Given the description of an element on the screen output the (x, y) to click on. 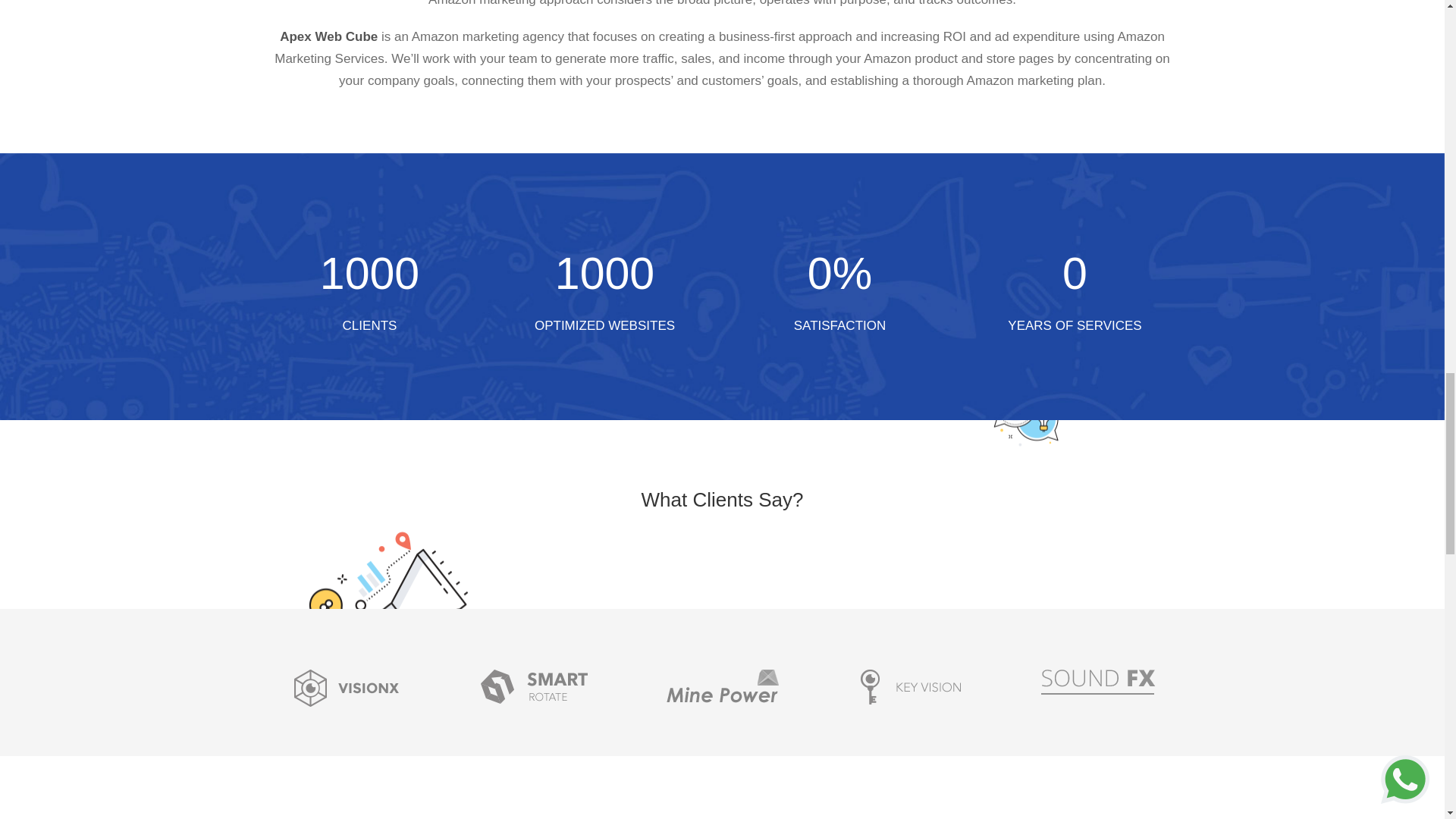
banner-1 (346, 687)
banner-3 (721, 685)
banner-2 (534, 686)
